Given the description of an element on the screen output the (x, y) to click on. 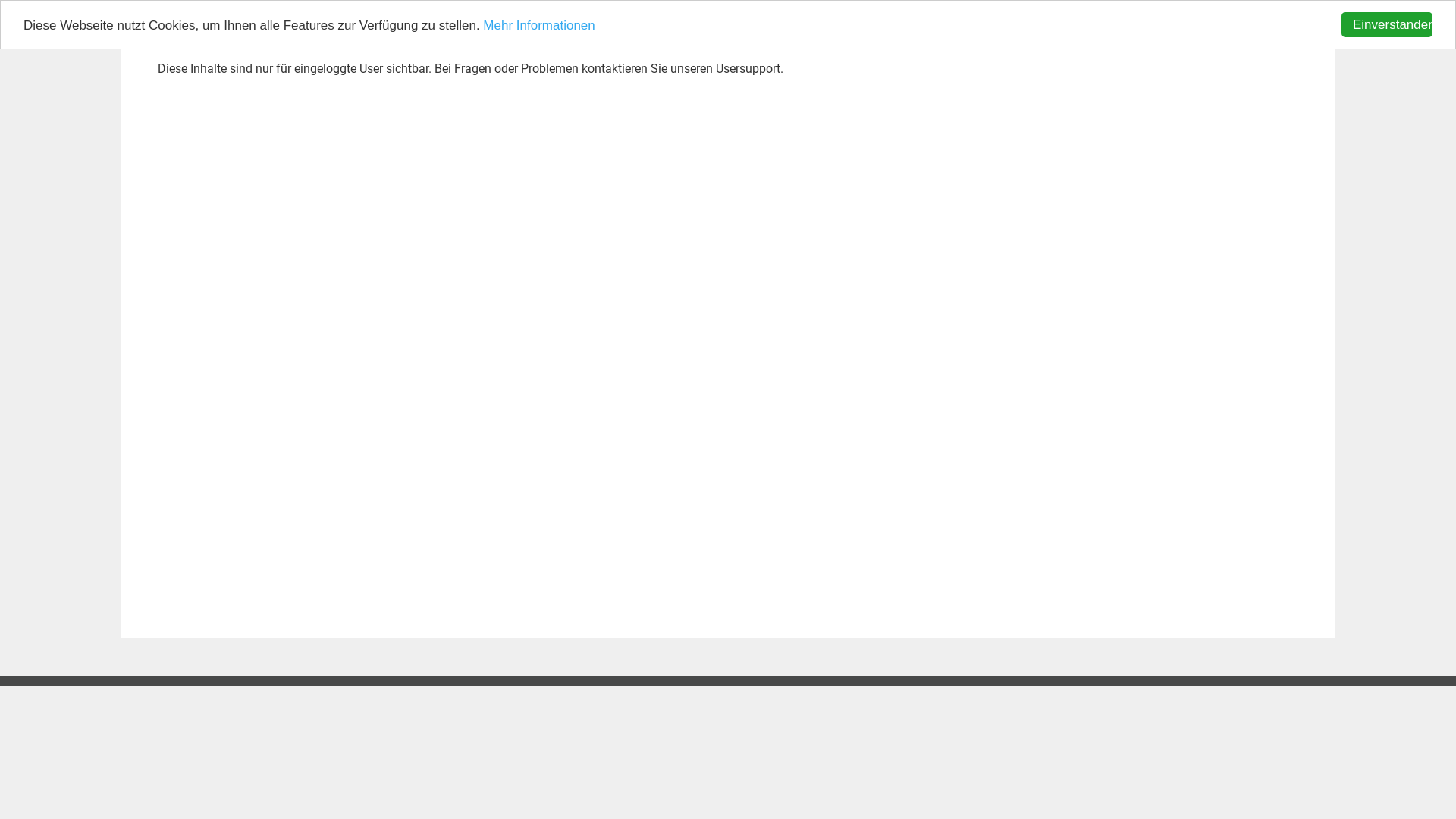
DE Element type: text (1246, 13)
IT Element type: text (1297, 13)
Login Element type: text (1213, 13)
FR Element type: text (1272, 13)
